Given the description of an element on the screen output the (x, y) to click on. 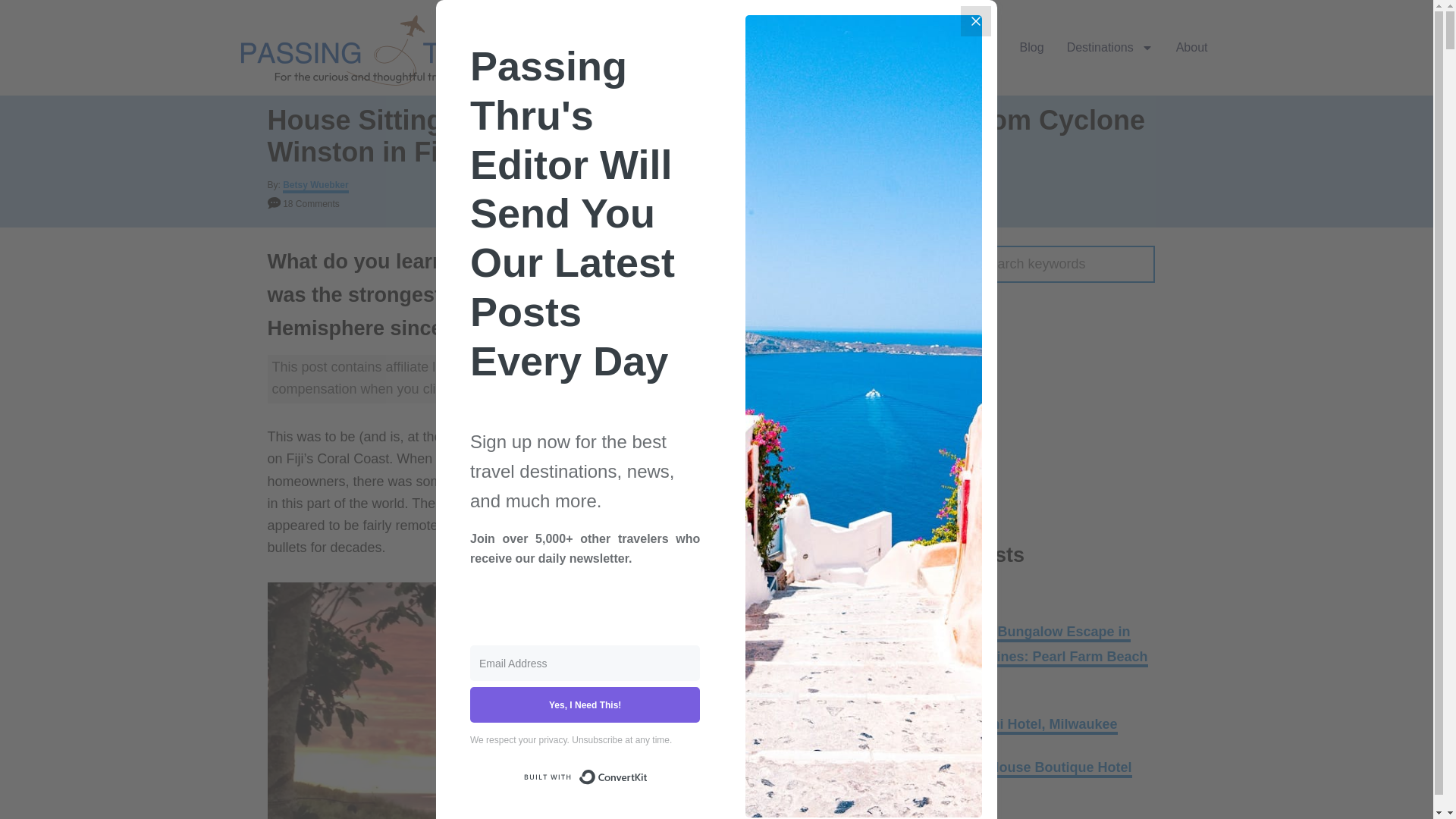
Blog (1031, 47)
Search for: (1040, 263)
Destinations (1110, 47)
